Given the description of an element on the screen output the (x, y) to click on. 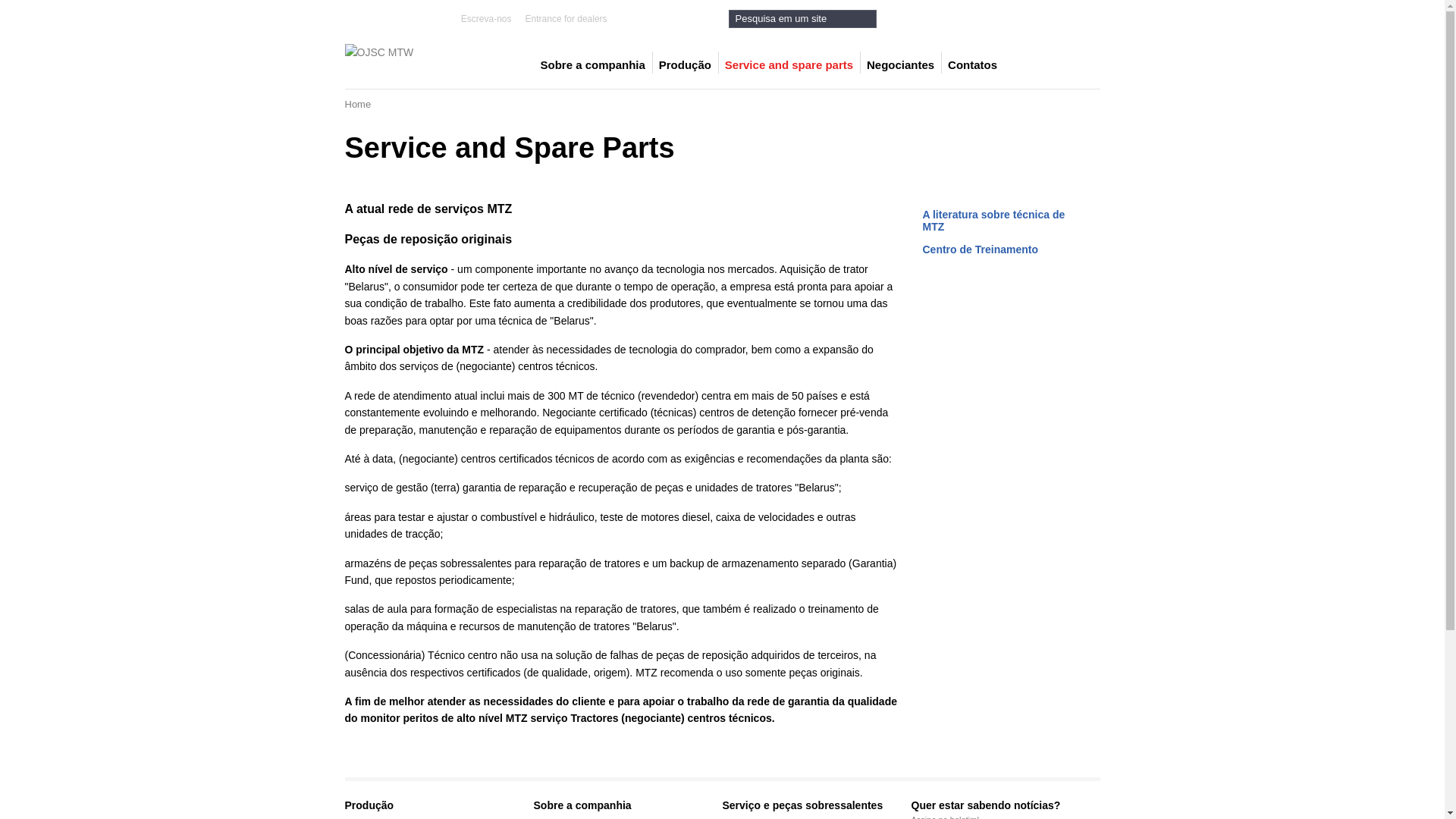
Entrance for dealers Element type: text (566, 18)
Sobre a companhia Element type: text (591, 64)
Pesquisa em um site Element type: hover (802, 18)
Escreva-nos Element type: text (486, 18)
Centro de Treinamento Element type: text (979, 249)
Negociantes Element type: text (900, 64)
Contatos Element type: text (972, 64)
Home Element type: text (357, 103)
